Given the description of an element on the screen output the (x, y) to click on. 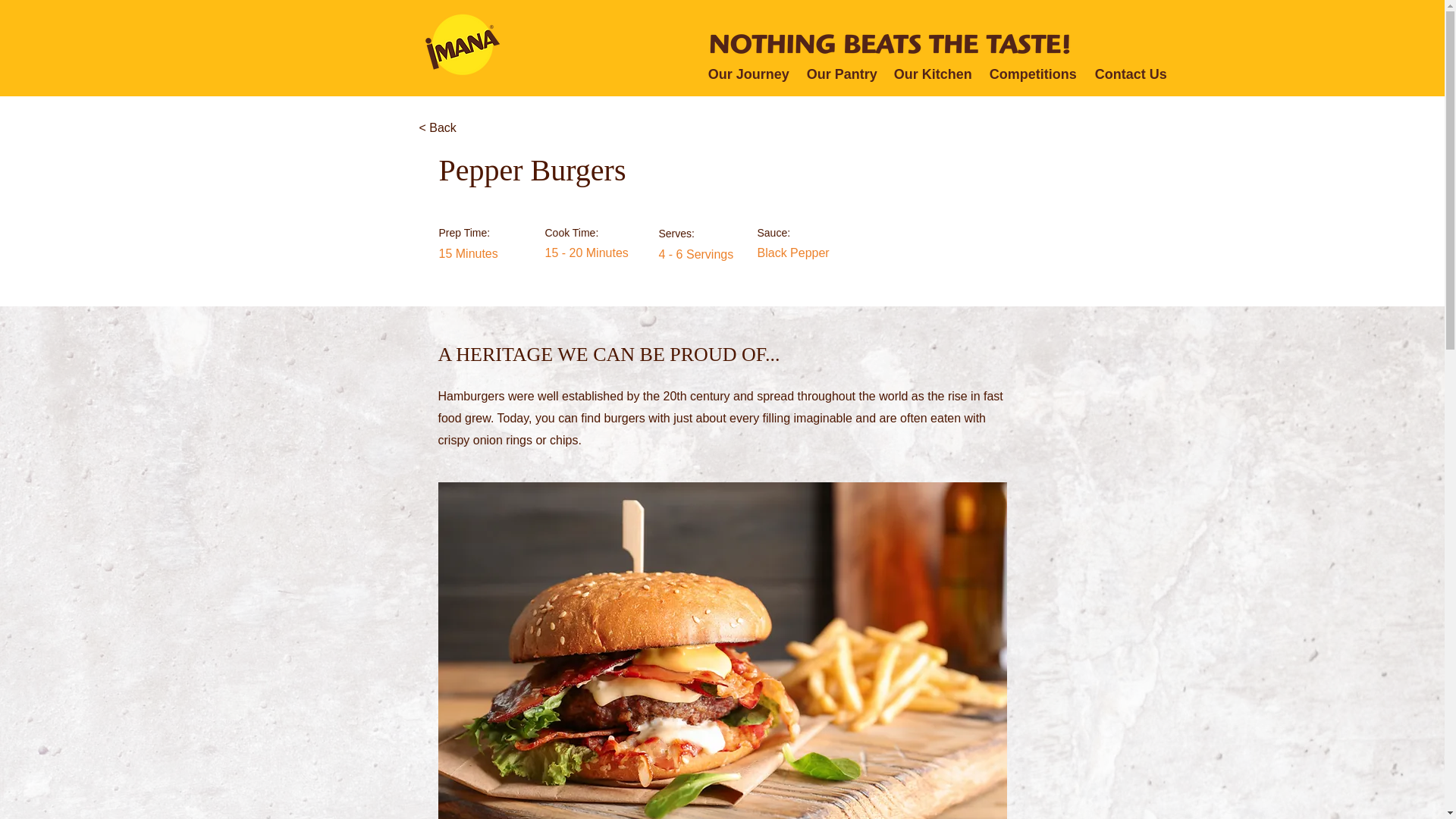
Our Pantry (838, 73)
Our Journey (745, 73)
Our Kitchen (930, 73)
Contact Us (1128, 73)
